Given the description of an element on the screen output the (x, y) to click on. 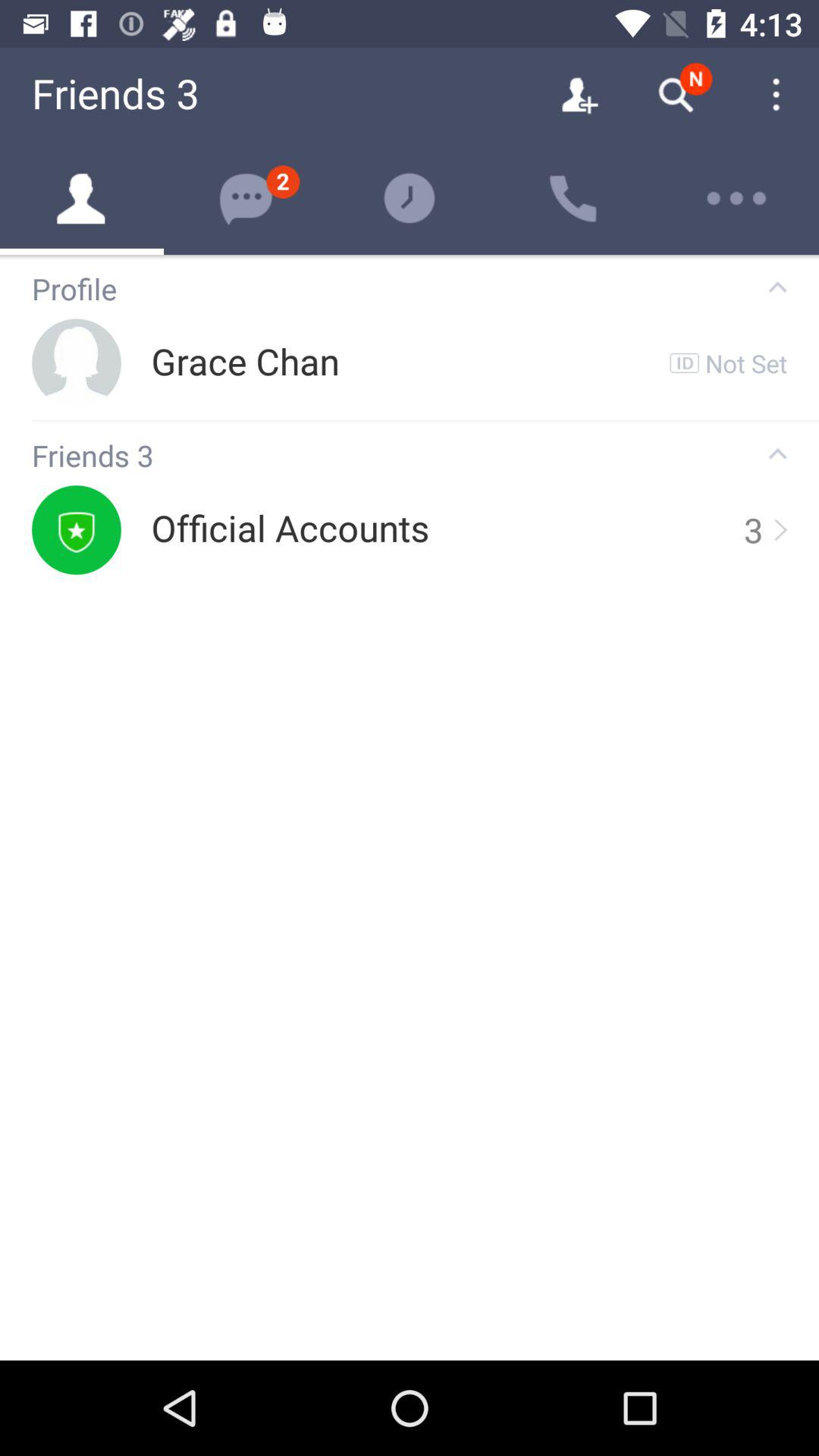
select the icon next to the timer (573, 198)
click on the right scroll (779, 529)
select the letter n on the search bar icon (696, 79)
select the search bar icon along the letter n (675, 95)
select the icon which is right to phone icon (737, 197)
select the arrow which is above the number 3 (777, 453)
click the icon which is next to the phone icon (737, 198)
click on the notifications which is above the search icon (696, 79)
go to the id (684, 362)
select the id (684, 362)
select phone icon (573, 197)
select the search icon (675, 95)
